Given the description of an element on the screen output the (x, y) to click on. 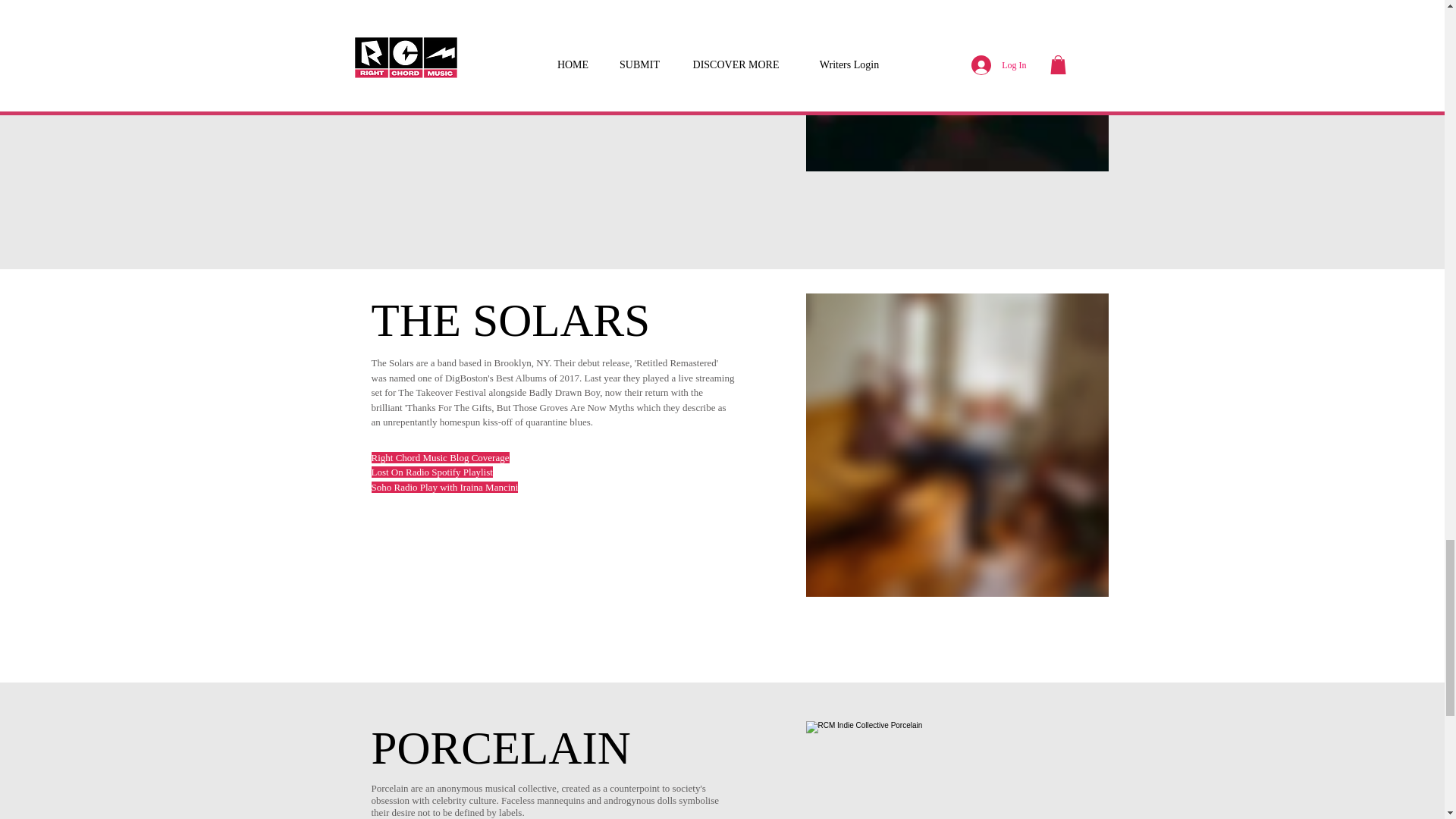
Lost On Radio Spotify Playlist (432, 471)
Music In Isolation Blog Coverage (438, 61)
Right Chord Music Blog Coverage (440, 457)
Lost On Radio Spotify Playlist (432, 32)
Right Chord Music Blog Coverage (440, 18)
We Make Music Instagram Post (434, 77)
Soho Radio Play with Iraina Mancini (444, 487)
